Given the description of an element on the screen output the (x, y) to click on. 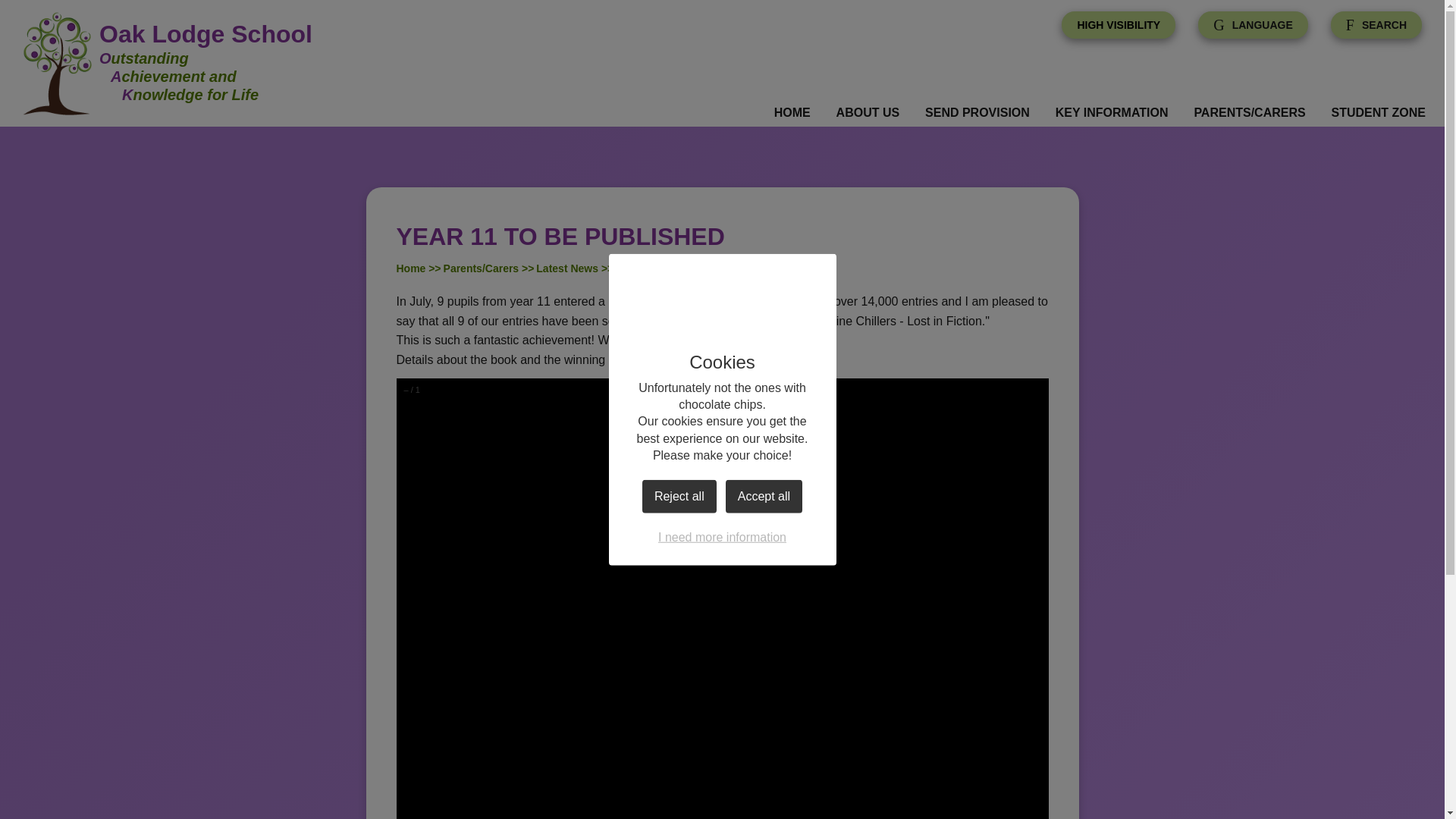
SEND PROVISION (976, 112)
HOME (792, 112)
ABOUT US (867, 112)
